Given the description of an element on the screen output the (x, y) to click on. 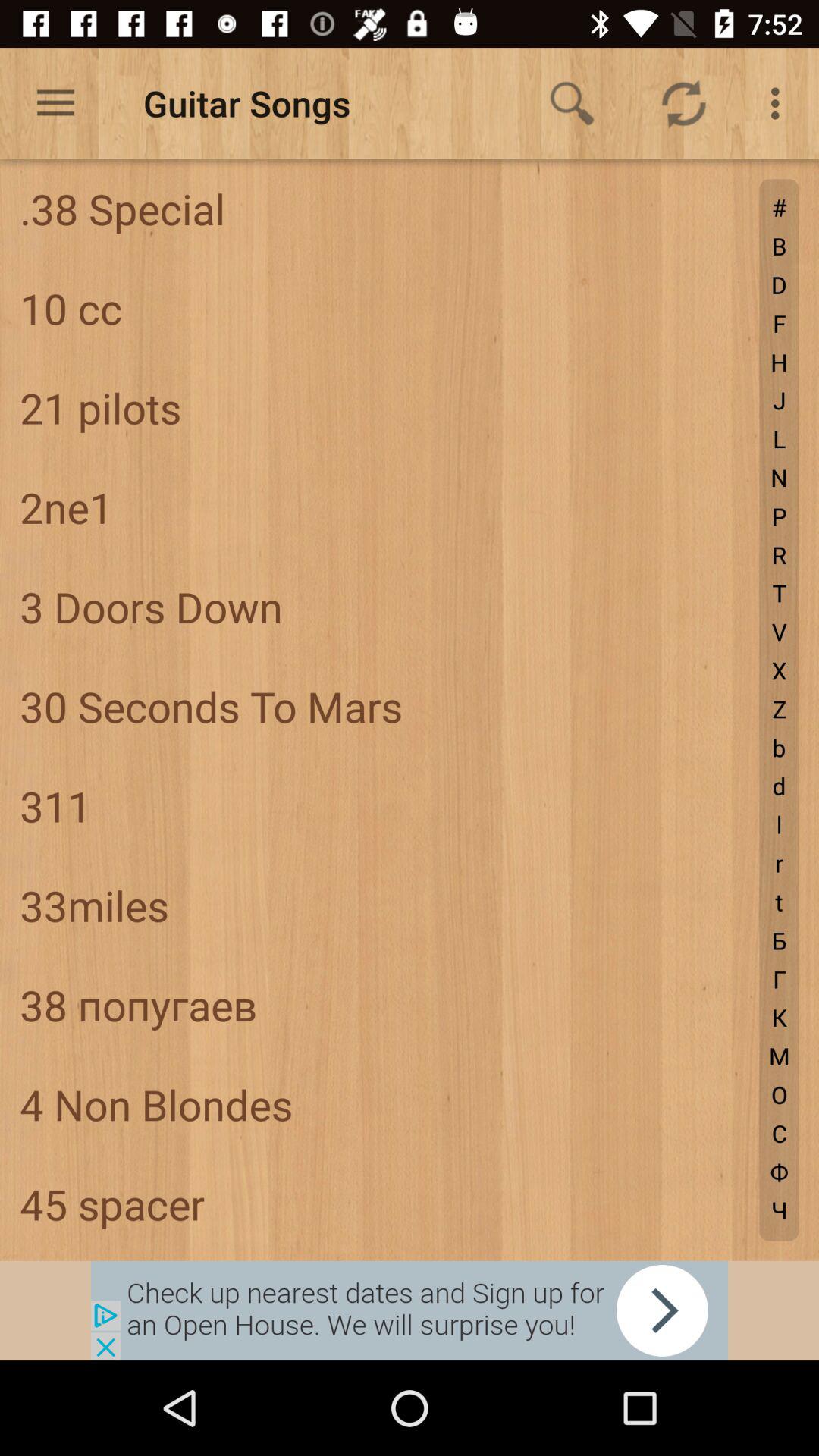
share the article (409, 1310)
